Given the description of an element on the screen output the (x, y) to click on. 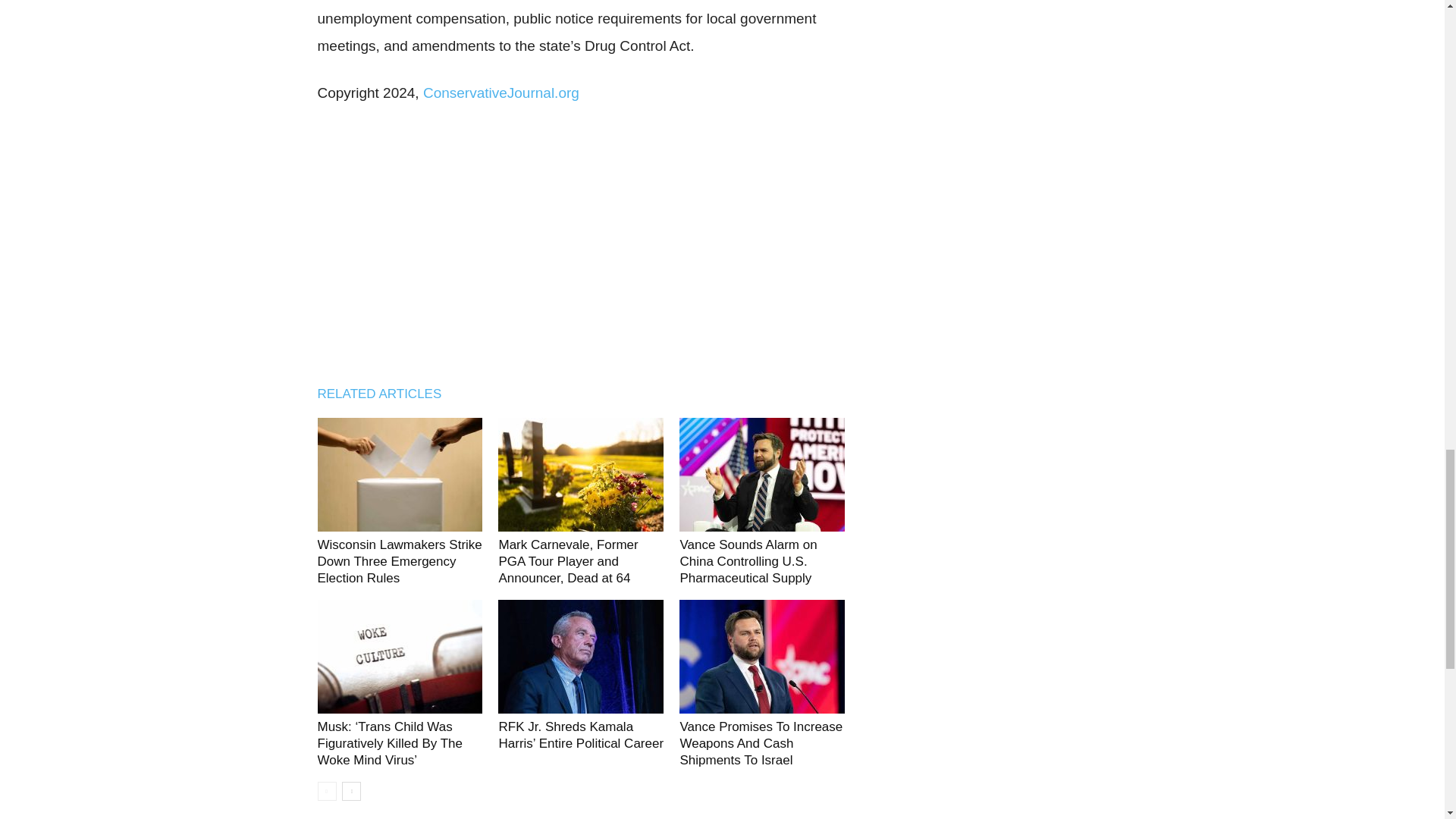
RELATED ARTICLES (387, 393)
Advertisement (580, 239)
ConservativeJournal.org (501, 92)
